Given the description of an element on the screen output the (x, y) to click on. 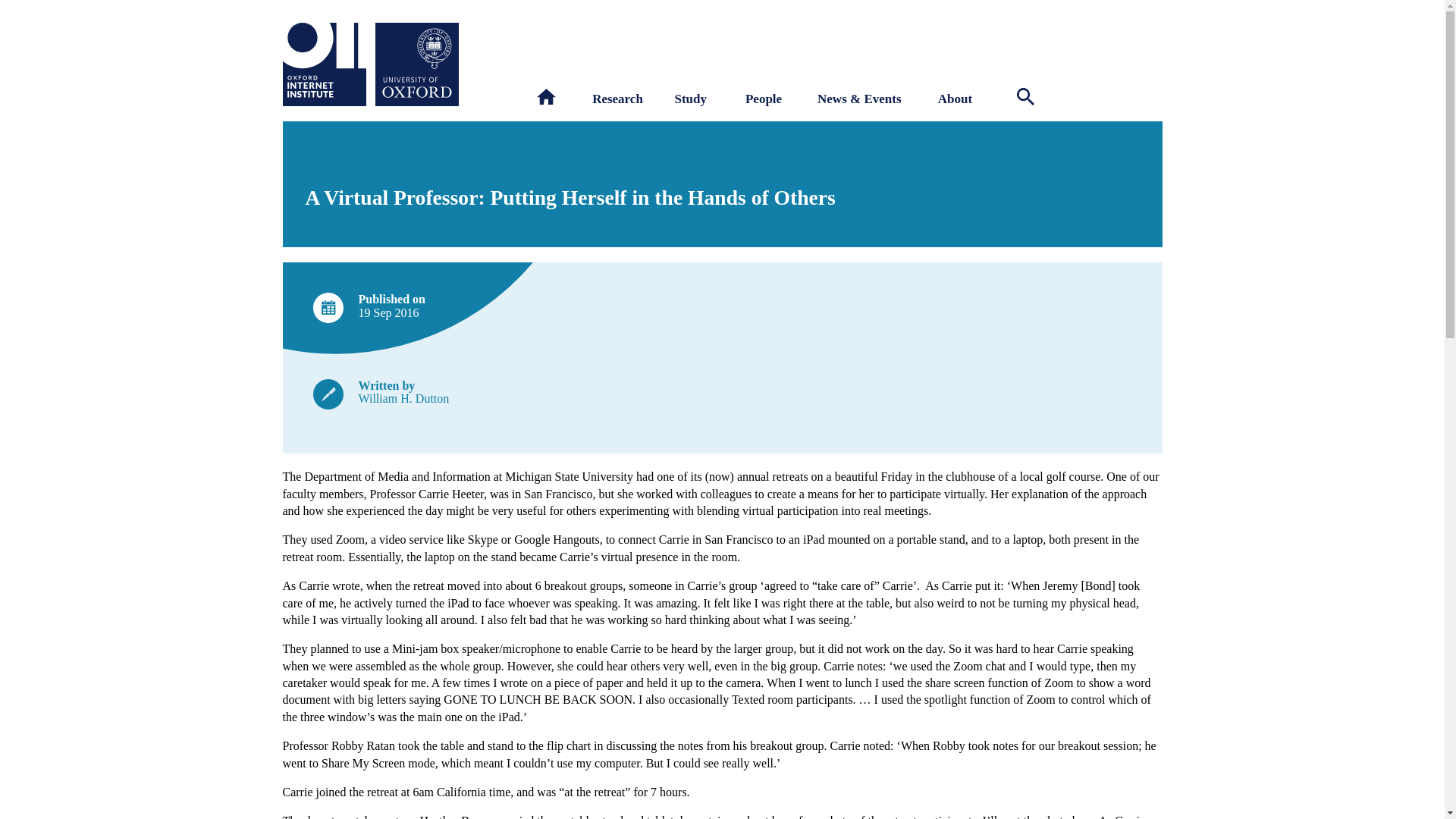
Homepage icon (546, 96)
